Given the description of an element on the screen output the (x, y) to click on. 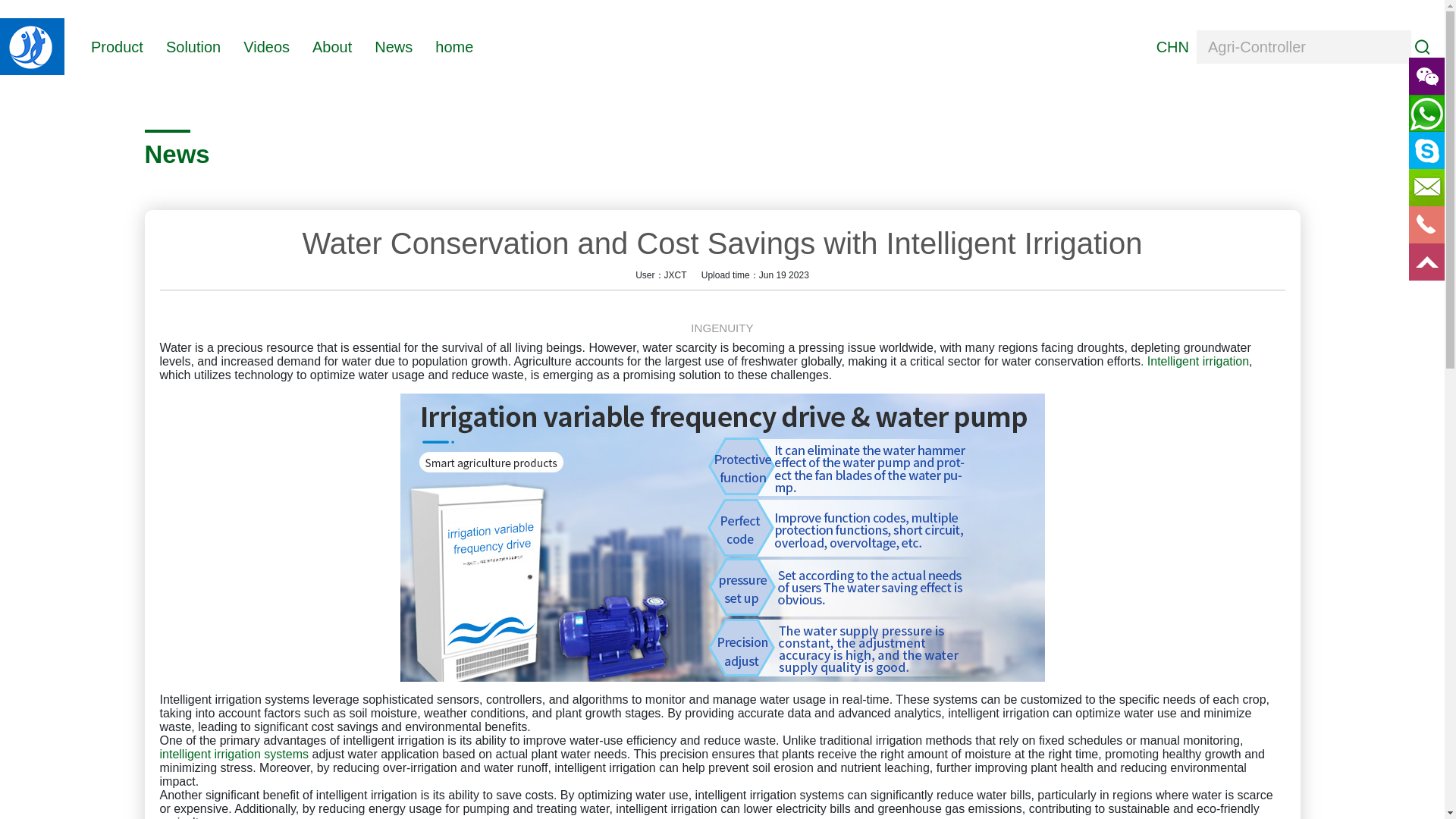
Agri-Controller (1303, 46)
News (393, 46)
home (454, 46)
Product (116, 46)
Solution (193, 46)
Videos (266, 46)
About (332, 46)
